Given the description of an element on the screen output the (x, y) to click on. 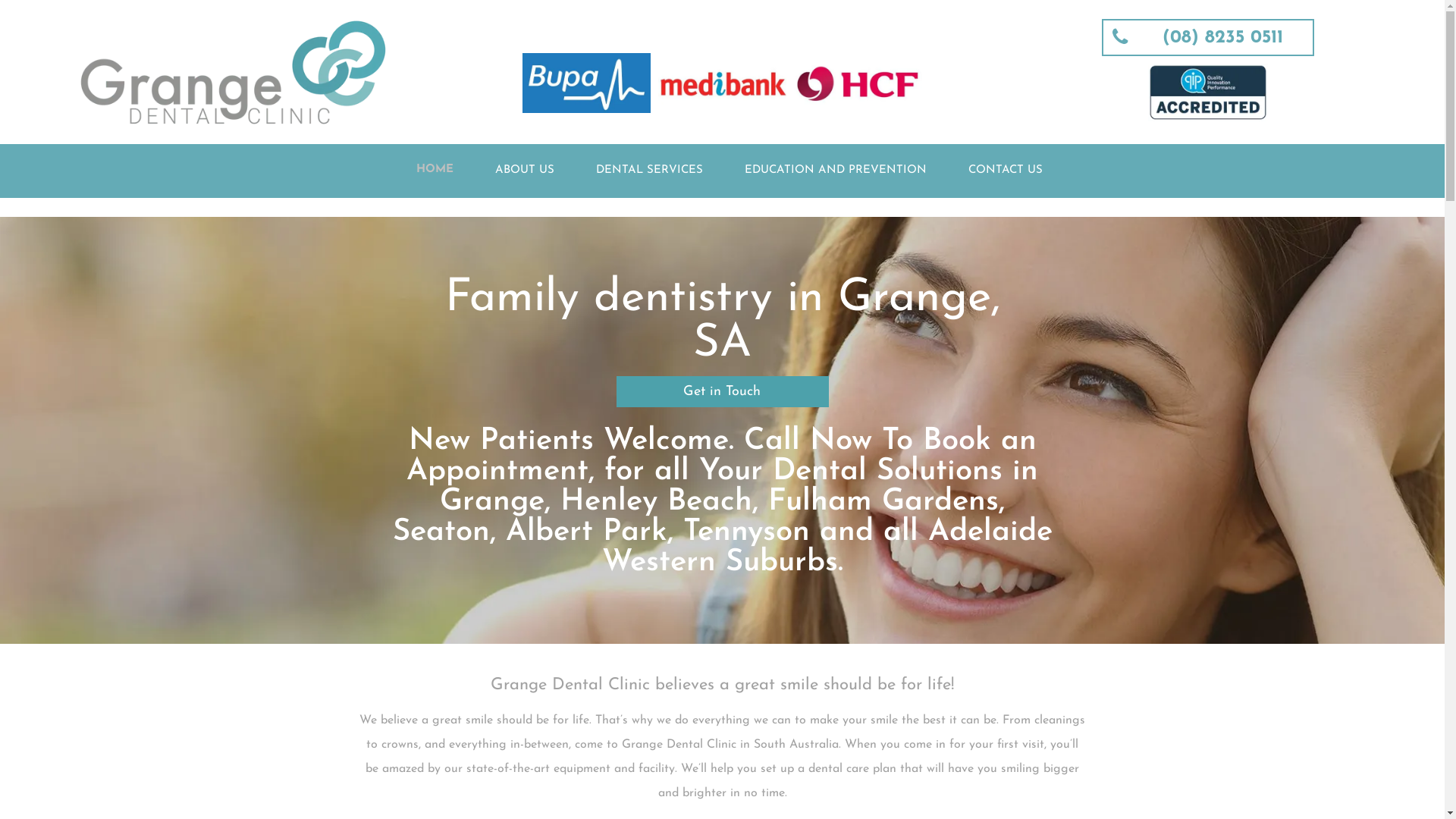
EDUCATION AND PREVENTION Element type: text (835, 171)
ABOUT US Element type: text (524, 171)
DENTAL SERVICES Element type: text (649, 171)
(08) 8235 0511 Element type: text (1207, 37)
Get in Touch Element type: text (721, 391)
CONTACT US Element type: text (1005, 171)
grange dental clinic logo Element type: hover (233, 72)
HOME Element type: text (434, 170)
